Given the description of an element on the screen output the (x, y) to click on. 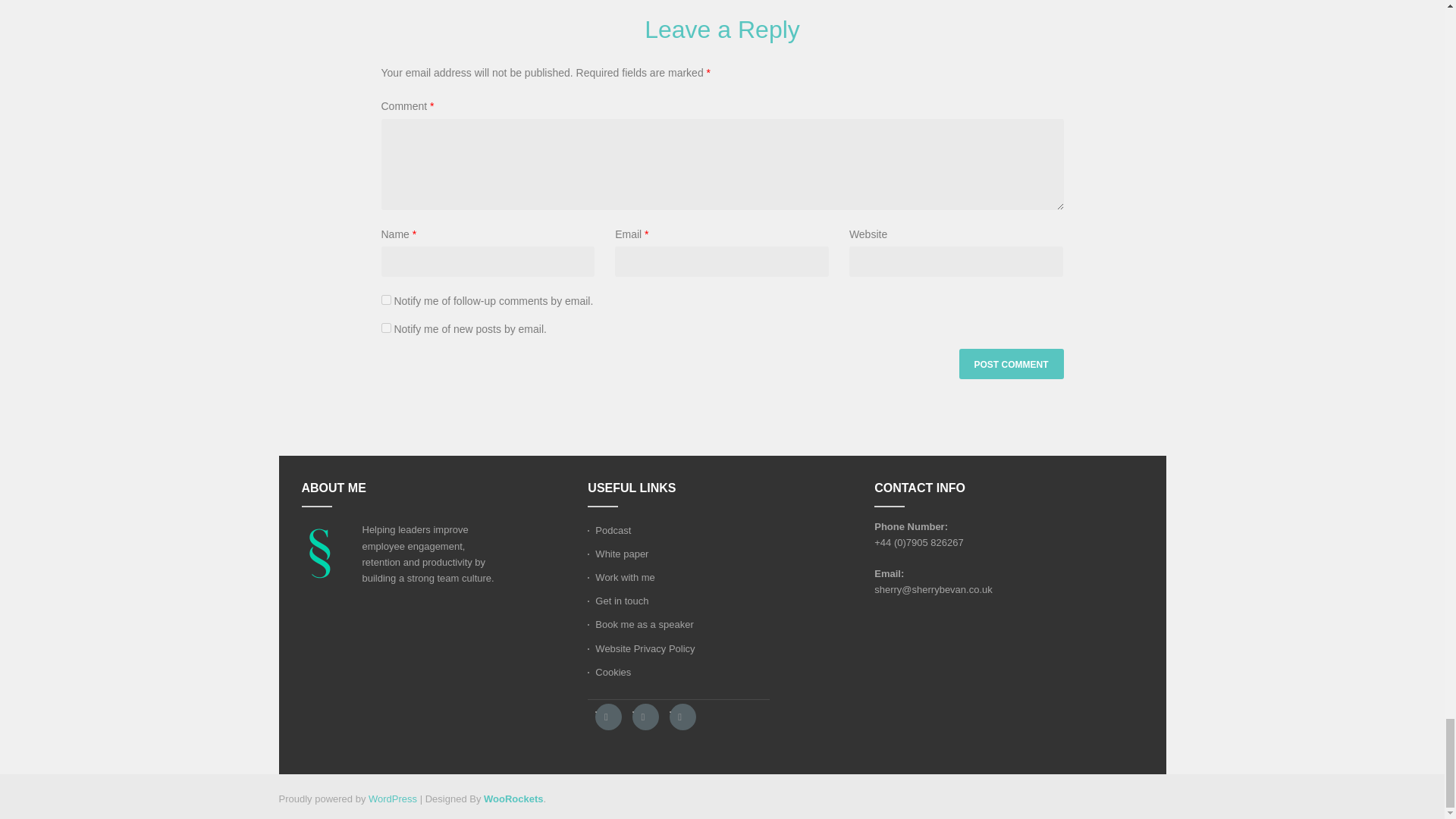
subscribe (385, 299)
Post Comment (1010, 363)
LinkedIn (682, 716)
subscribe (385, 327)
Facebook (608, 716)
Twitter (645, 716)
